Given the description of an element on the screen output the (x, y) to click on. 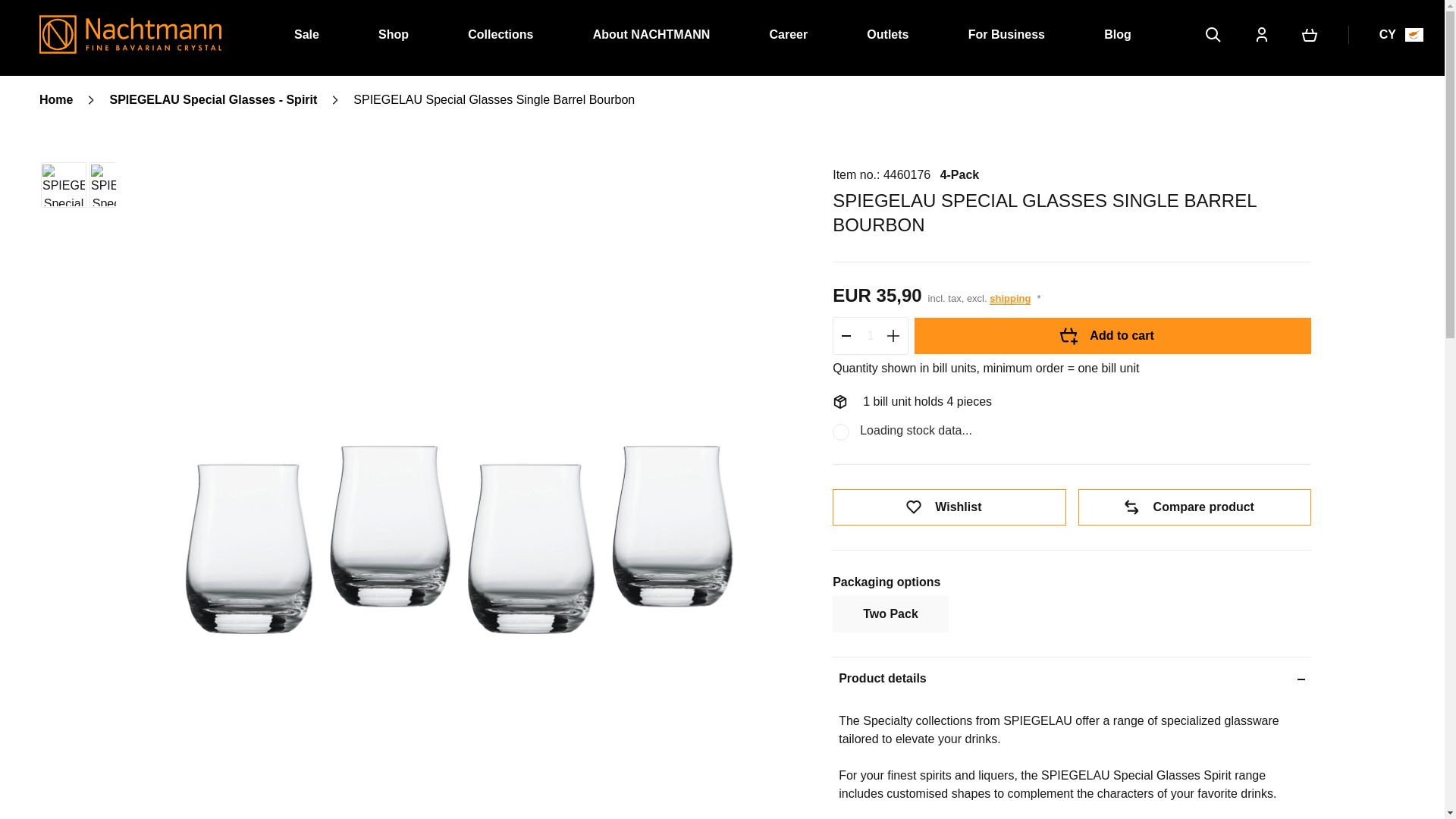
About NACHTMANN (651, 34)
Select country: CY (1391, 34)
MyNACHTMANN (1261, 34)
Add to cart (1112, 335)
SPIEGELAU Special Glasses - Spirit (213, 99)
Collections (499, 34)
CY (1391, 34)
Home (55, 99)
1 (870, 335)
